Given the description of an element on the screen output the (x, y) to click on. 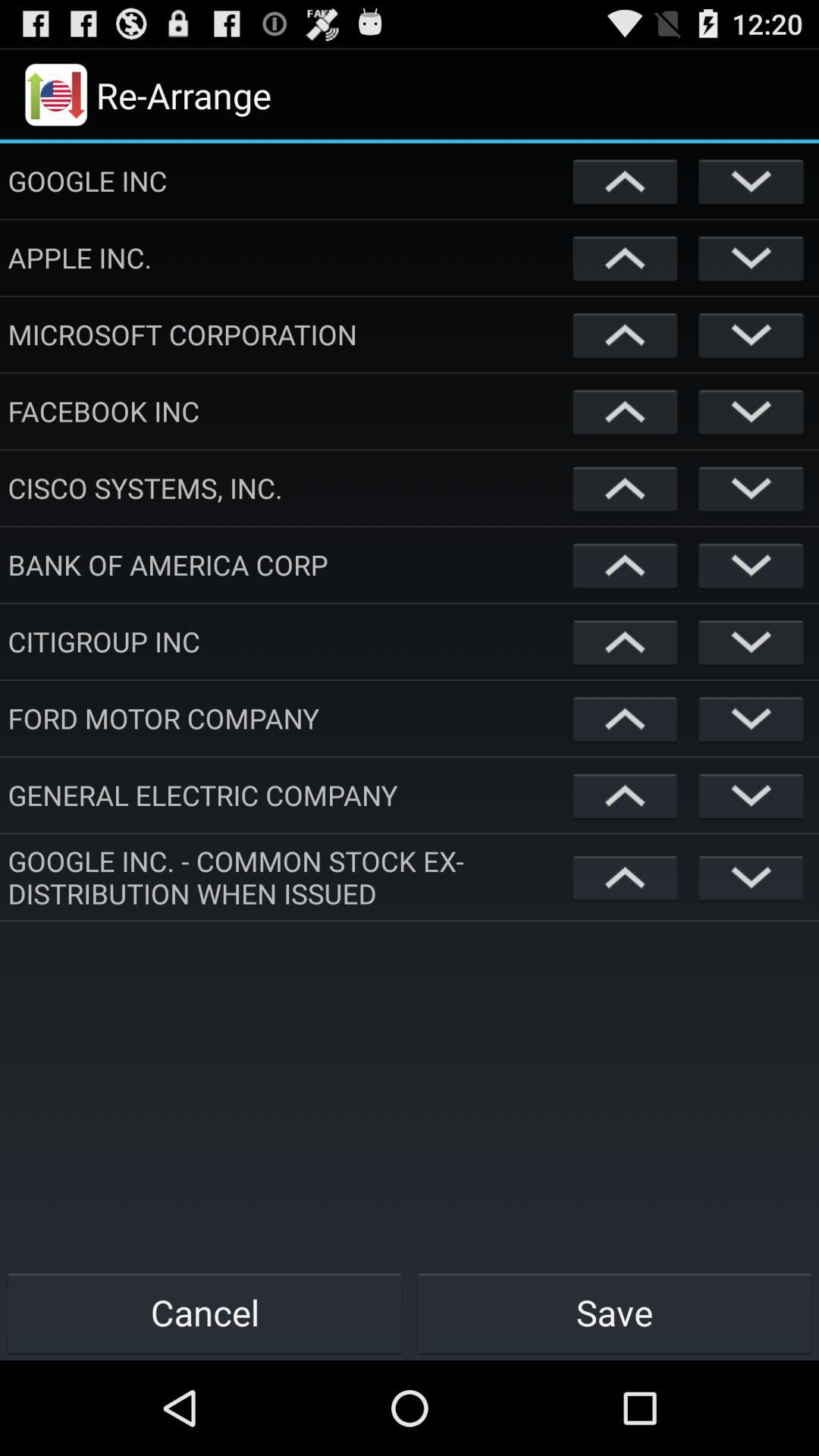
organizing arrow to high market (624, 877)
